Given the description of an element on the screen output the (x, y) to click on. 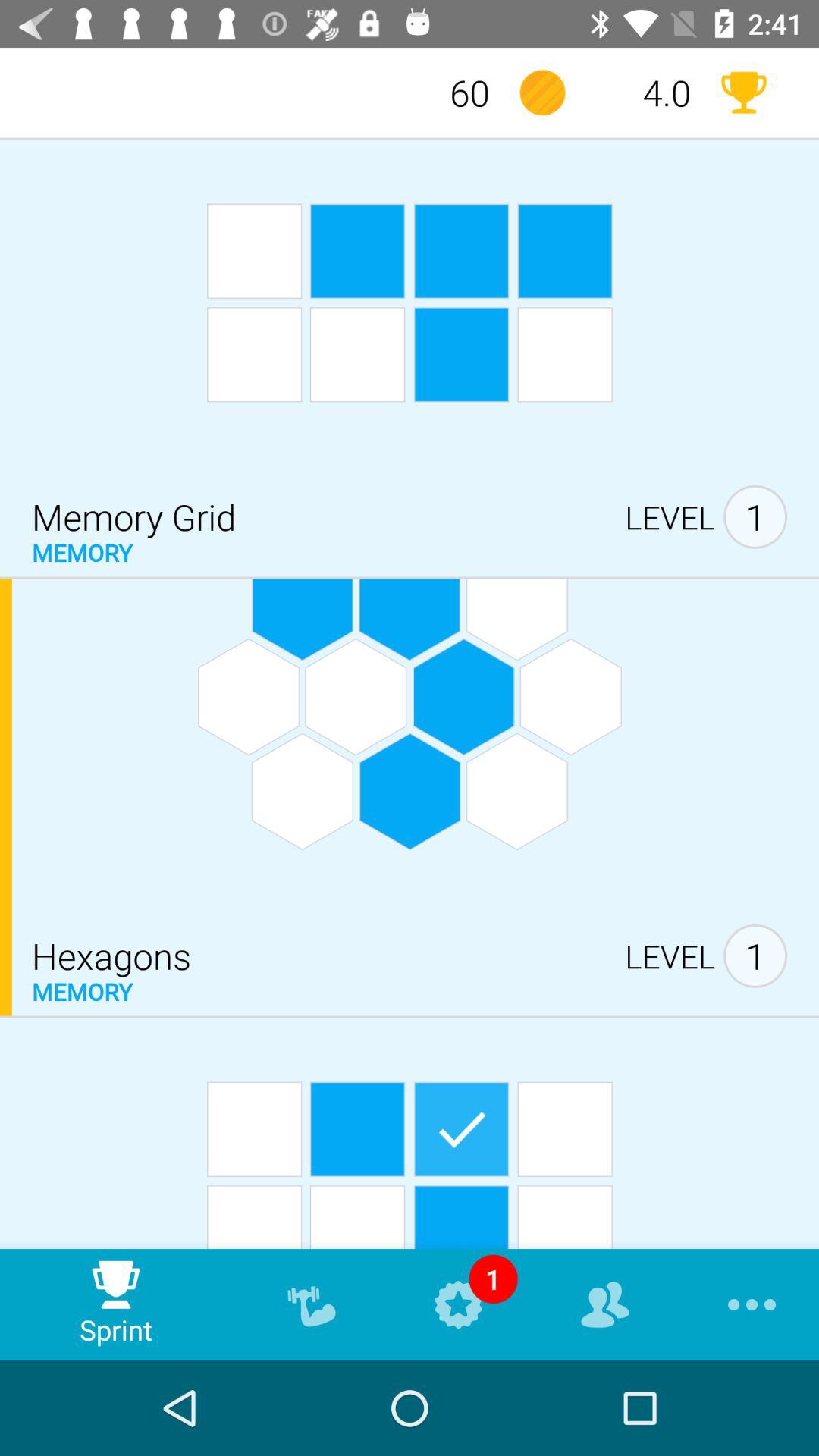
turn on the item to the right of 4.0 item (743, 92)
